Given the description of an element on the screen output the (x, y) to click on. 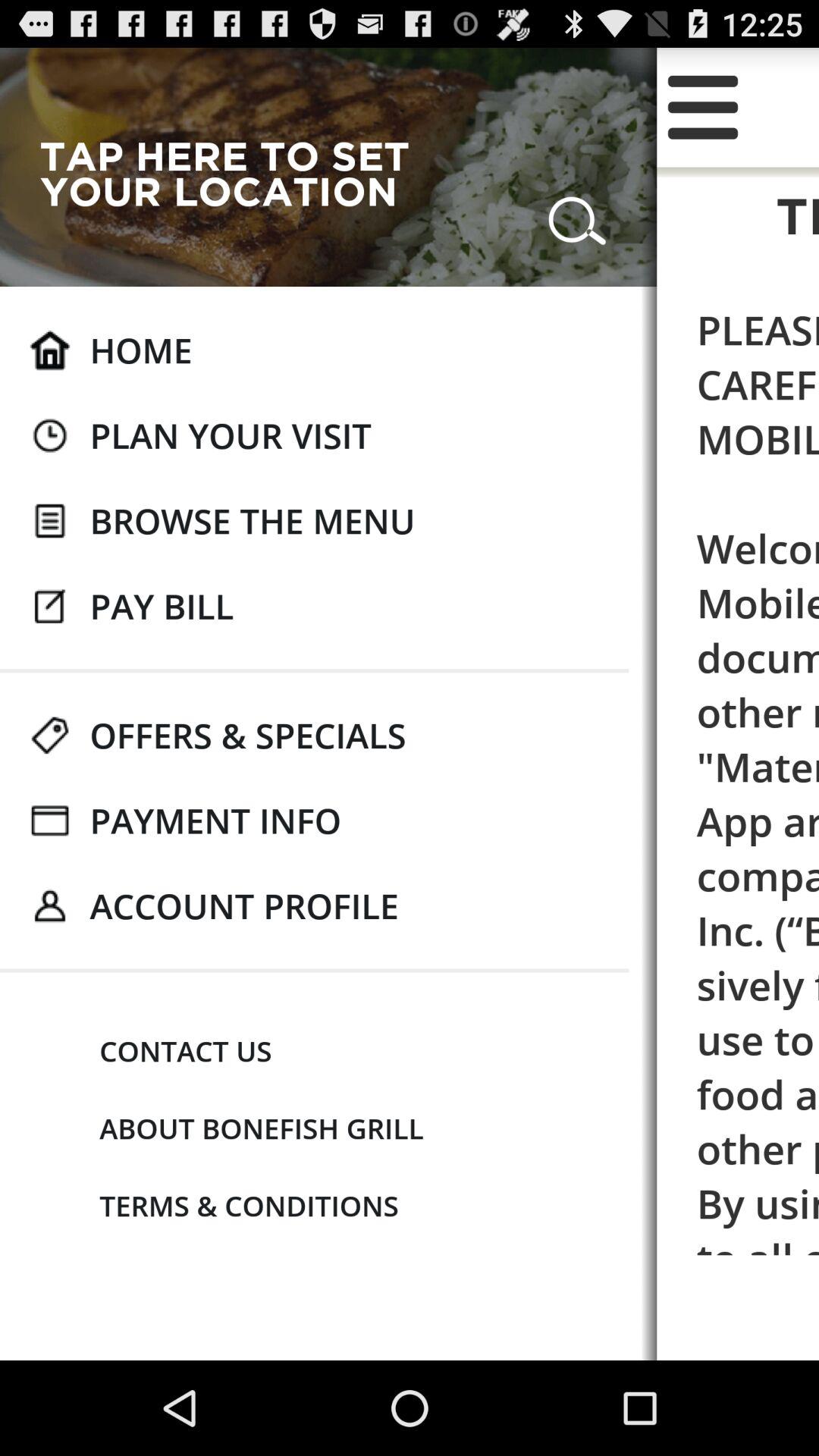
turn off the icon next to please read these app (230, 435)
